Given the description of an element on the screen output the (x, y) to click on. 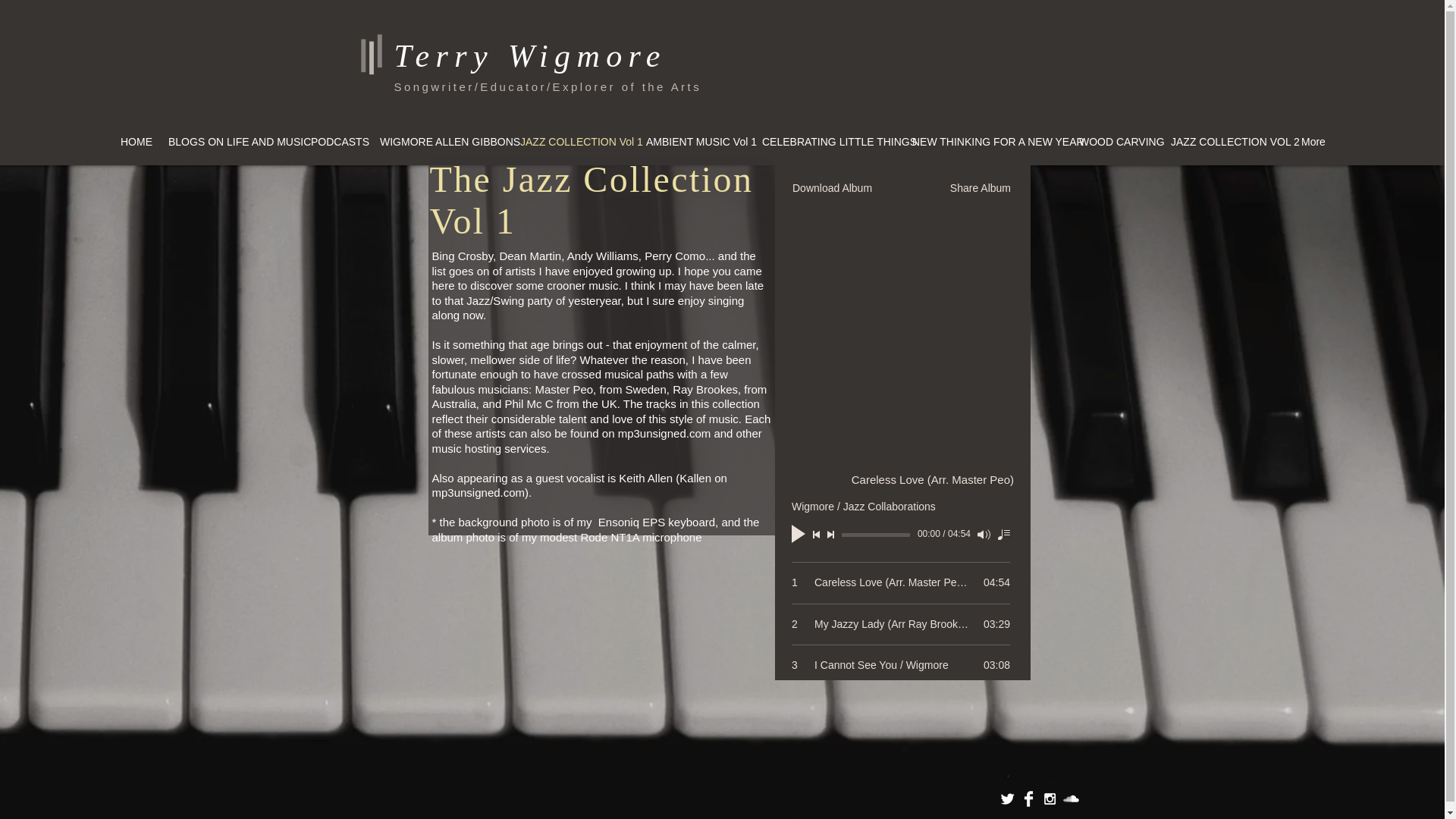
HOME (134, 141)
JAZZ COLLECTION VOL 2 (1225, 141)
AMBIENT MUSIC Vol 1 (694, 141)
WOOD CARVING (1114, 141)
WIGMORE ALLEN GIBBONS (440, 141)
Terry Wigmore (530, 55)
PODCASTS (335, 141)
CELEBRATING LITTLE THINGS (827, 141)
BLOGS ON LIFE AND MUSIC (229, 141)
JAZZ COLLECTION Vol 1 (573, 141)
NEW THINKING FOR A NEW YEAR (985, 141)
